Given the description of an element on the screen output the (x, y) to click on. 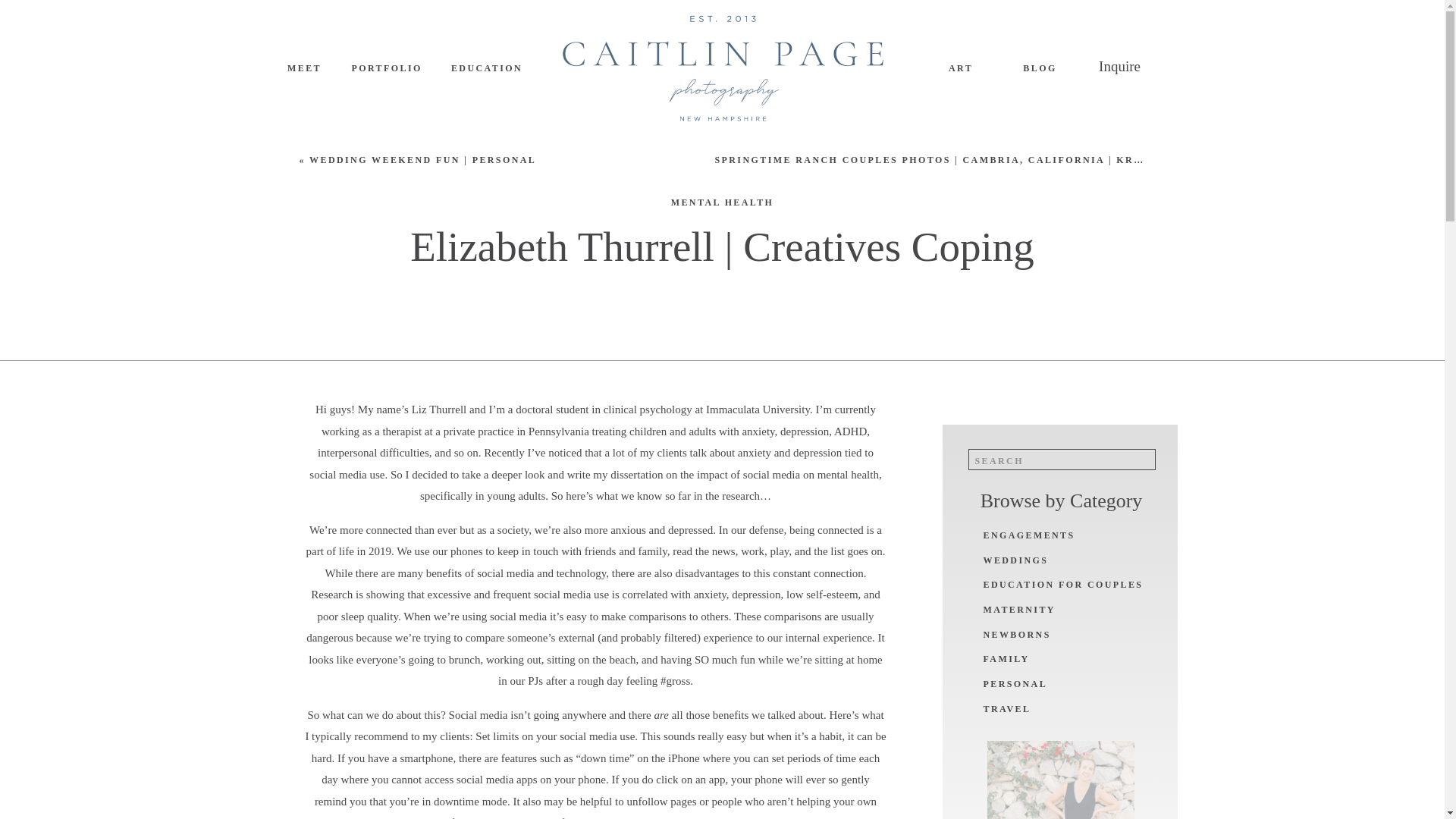
EDUCATION FOR COUPLES (1064, 585)
Inquire (1120, 67)
MEET (304, 68)
FAMILY (1064, 659)
WEDDINGS (1026, 561)
PERSONAL (1064, 684)
NEWBORNS (1064, 635)
BLOG (1039, 68)
PORTFOLIO (386, 68)
ART (960, 68)
